Given the description of an element on the screen output the (x, y) to click on. 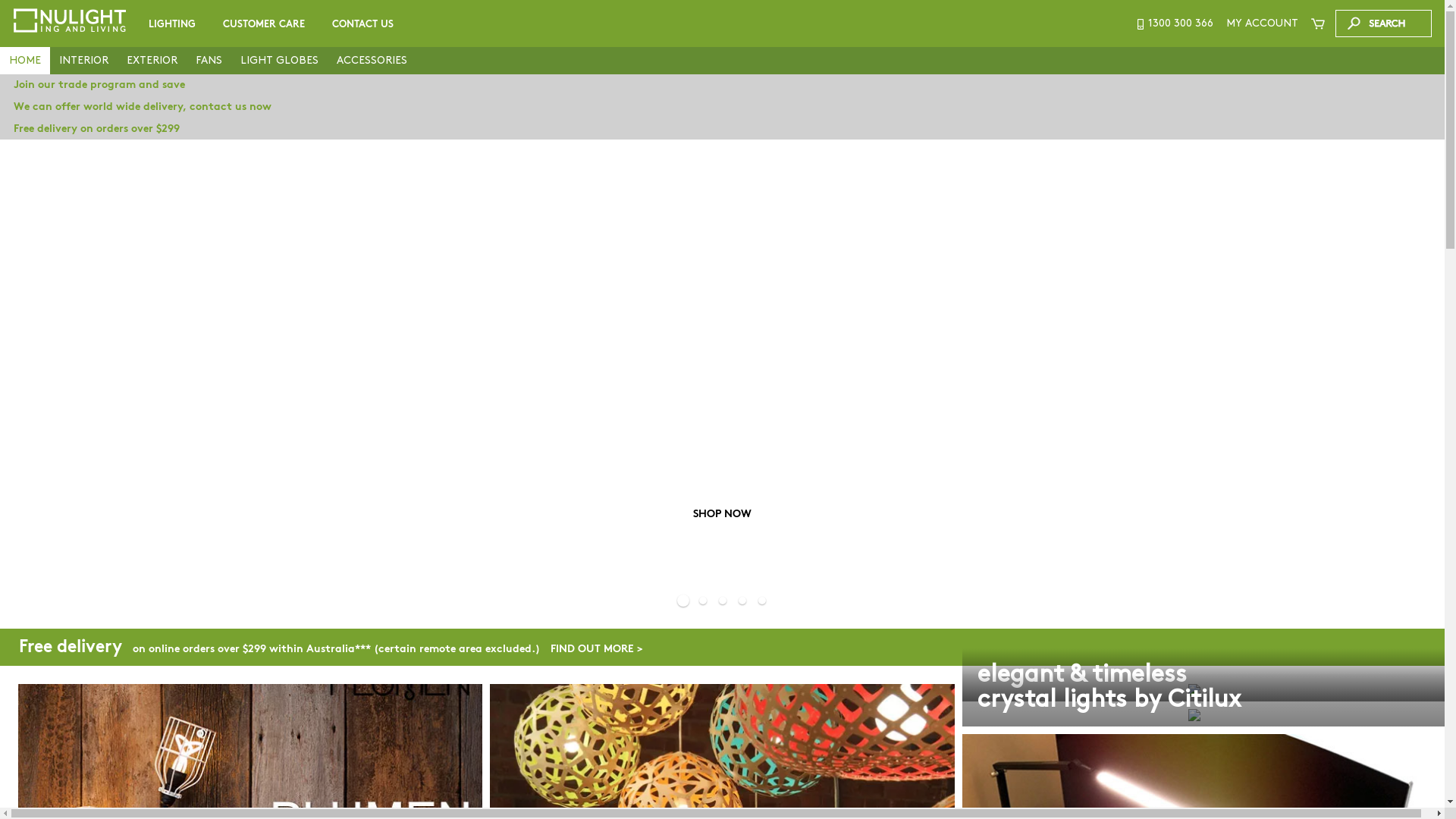
0 Element type: text (509, 52)
LIGHT GLOBES Element type: text (279, 60)
SHOP NOW Element type: text (722, 378)
CUSTOMER CARE Element type: text (263, 23)
Join our trade program and save Element type: text (722, 85)
FANS Element type: text (208, 60)
MY ACCOUNT Element type: text (1261, 23)
HOME Element type: text (25, 60)
ACCESSORIES Element type: text (371, 60)
EXTERIOR Element type: text (151, 60)
INTERIOR Element type: text (83, 60)
LIGHTING Element type: text (171, 23)
CONTACT US Element type: text (362, 23)
Free delivery on orders over $299 Element type: text (722, 129)
We can offer world wide delivery, contact us now Element type: text (722, 107)
Nu Lighting Element type: hover (69, 20)
For support, call us on
1300 300 366 Element type: text (1173, 23)
